Given the description of an element on the screen output the (x, y) to click on. 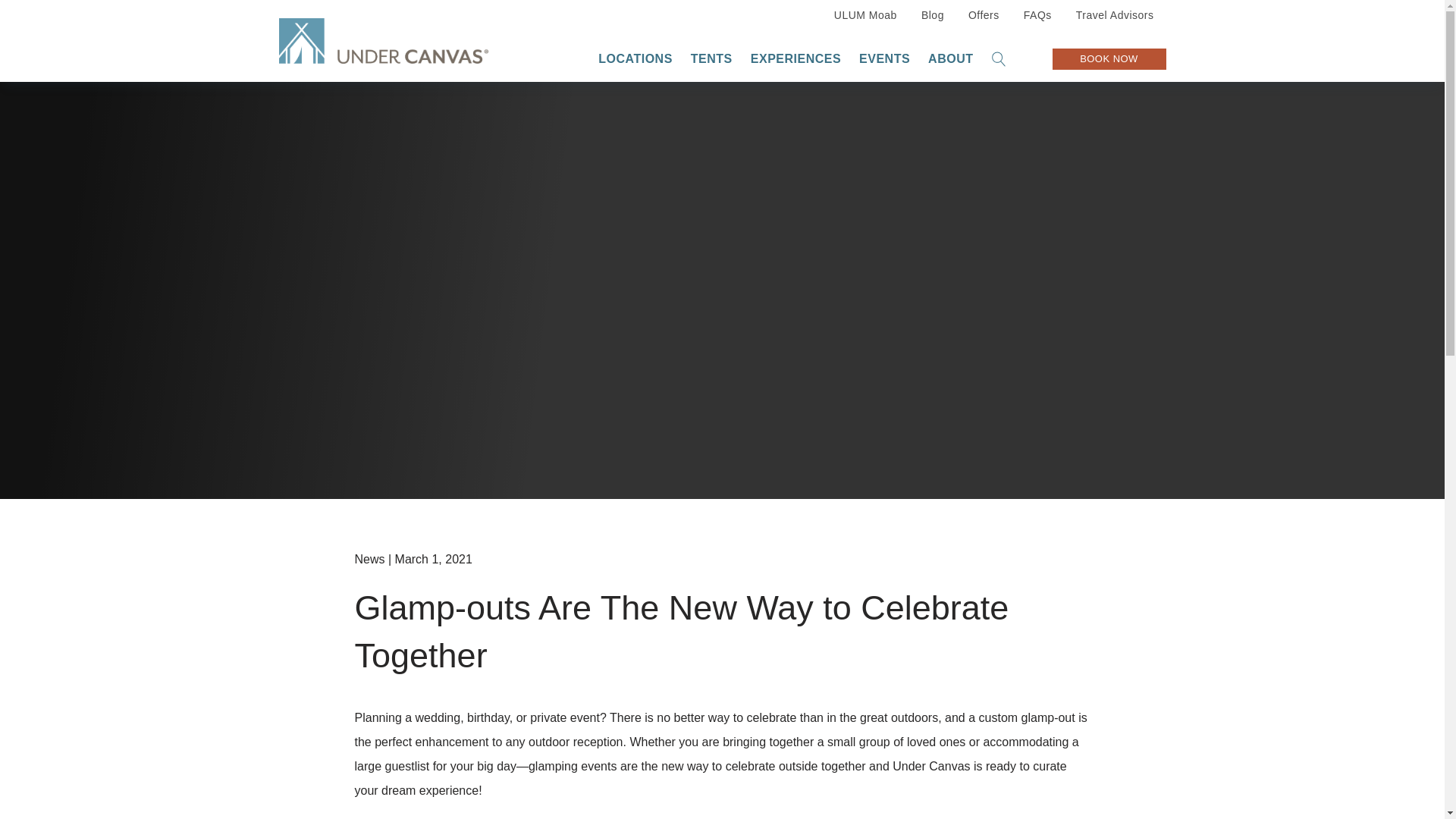
reveal search (999, 58)
ULUM Moab (865, 14)
FAQs (1037, 14)
Blog (932, 14)
Offers (983, 14)
